Given the description of an element on the screen output the (x, y) to click on. 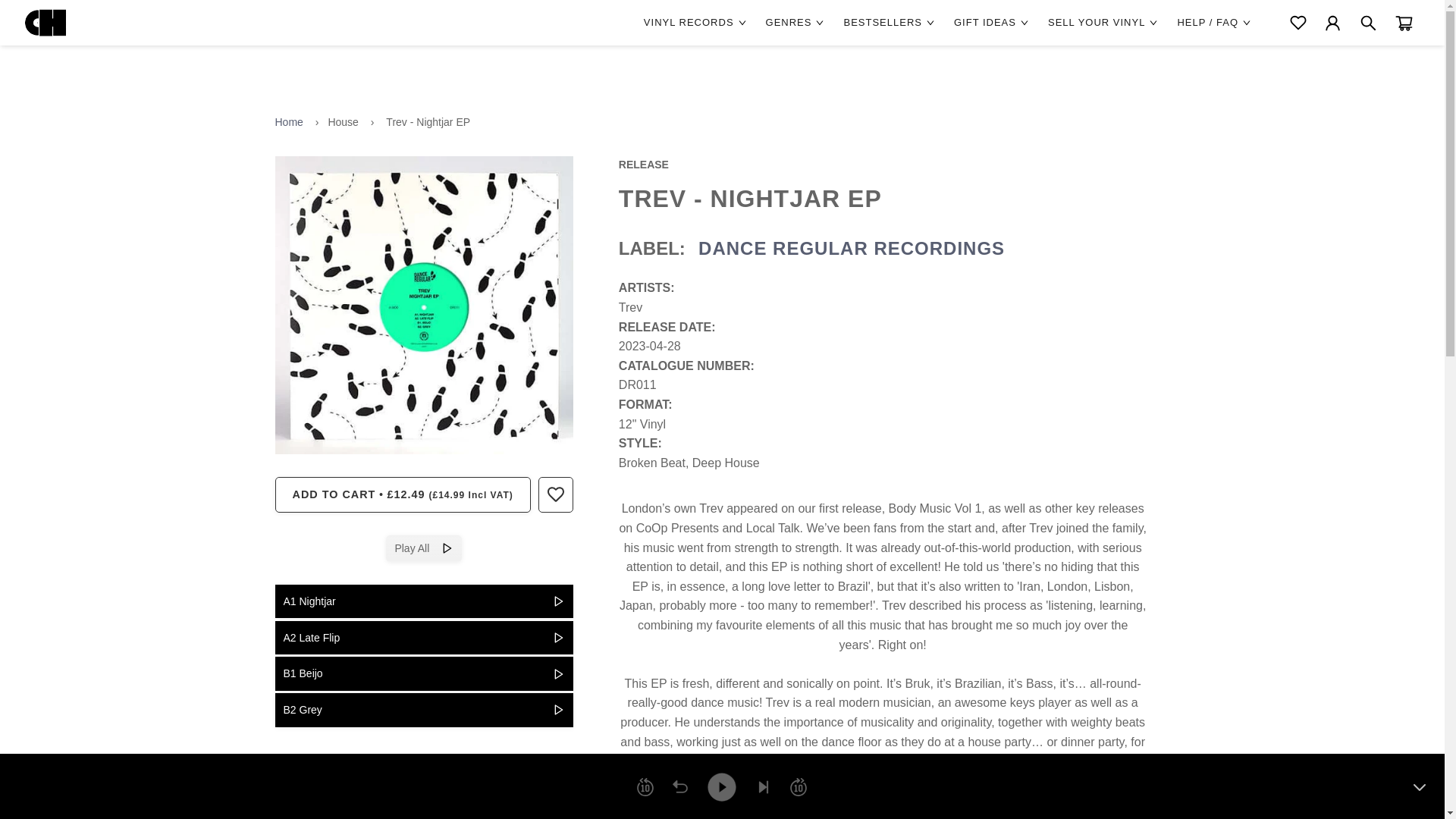
Go to account page (1332, 22)
BESTSELLERS (891, 22)
VINYL RECORDS (697, 22)
GENRES (796, 22)
Play (721, 786)
Go to wishlist page (1298, 22)
GIFT IDEAS (992, 22)
Go to shopping cart page (1404, 22)
Replay from start (679, 786)
Open search bar (1367, 22)
